Given the description of an element on the screen output the (x, y) to click on. 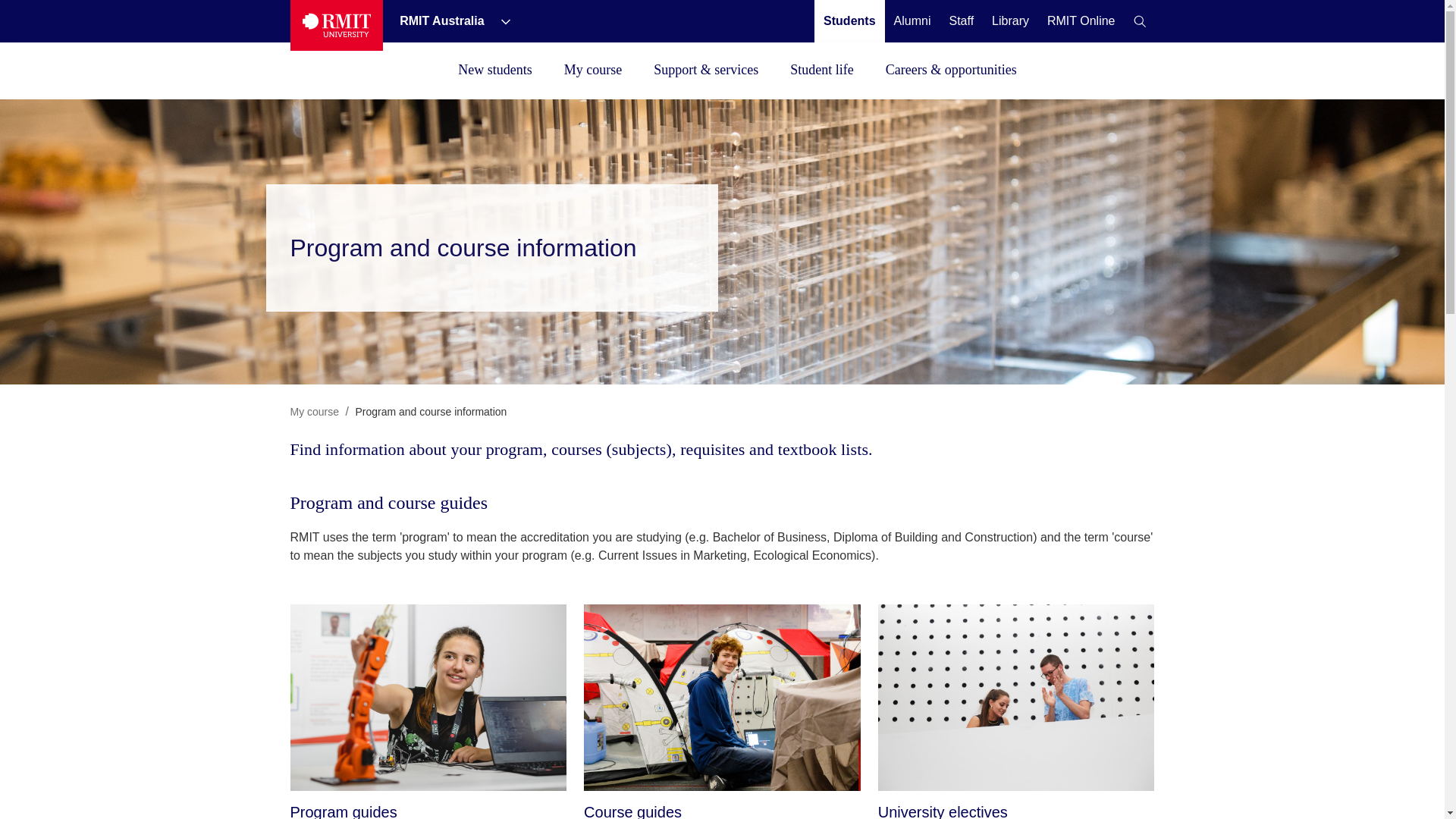
RMIT Australia (443, 20)
Alumni (912, 20)
Staff (961, 20)
Students (849, 20)
Library (1010, 20)
RMIT Online (1080, 20)
